Given the description of an element on the screen output the (x, y) to click on. 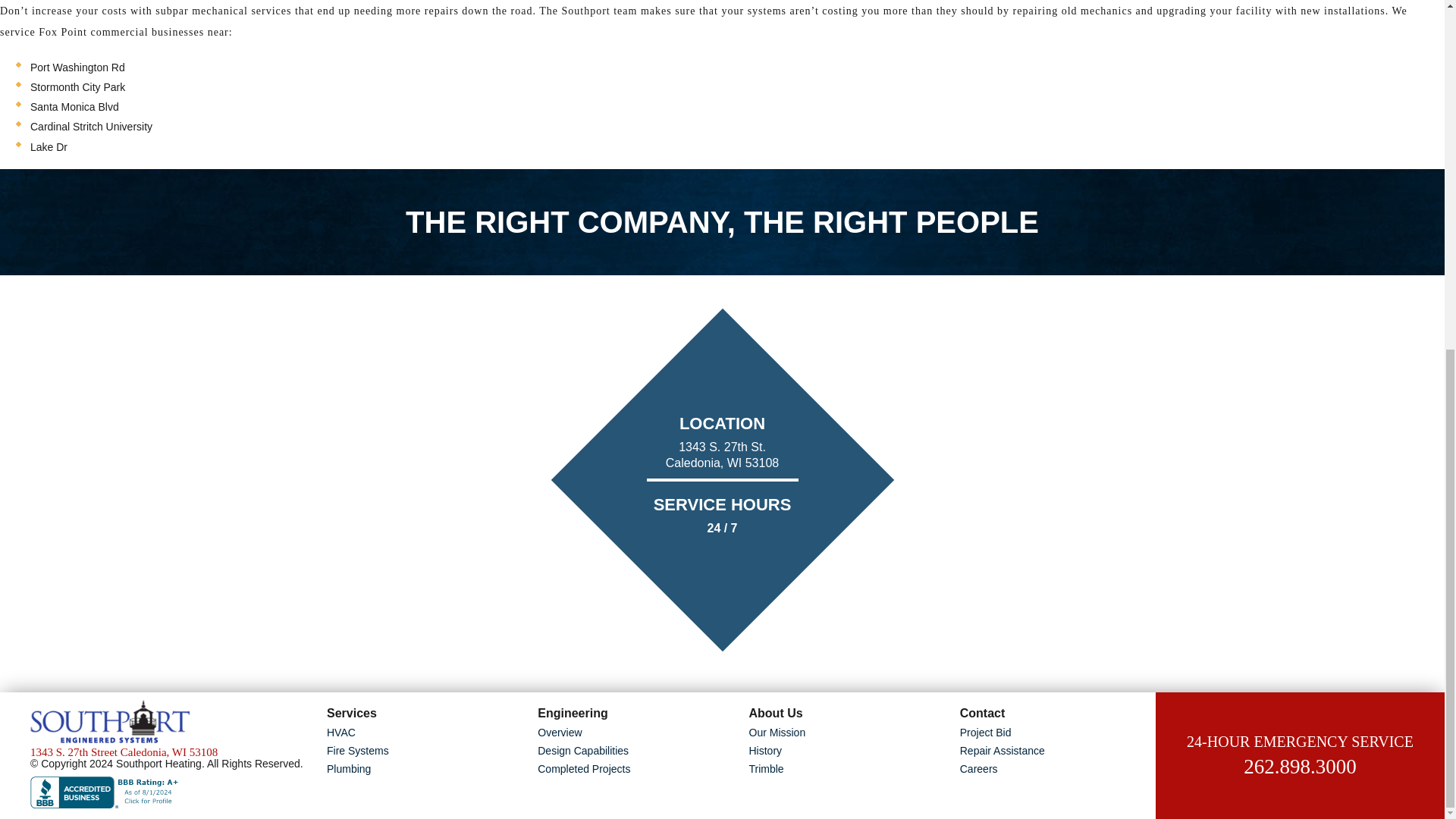
1343 S. 27th Street Caledonia, WI 53108 (170, 752)
Fire Systems (424, 751)
Careers (1057, 769)
Design Capabilities (635, 751)
Project Bid (1057, 732)
Our Mission (846, 732)
Overview (635, 732)
Trimble (846, 769)
History (846, 751)
HVAC (424, 732)
